Given the description of an element on the screen output the (x, y) to click on. 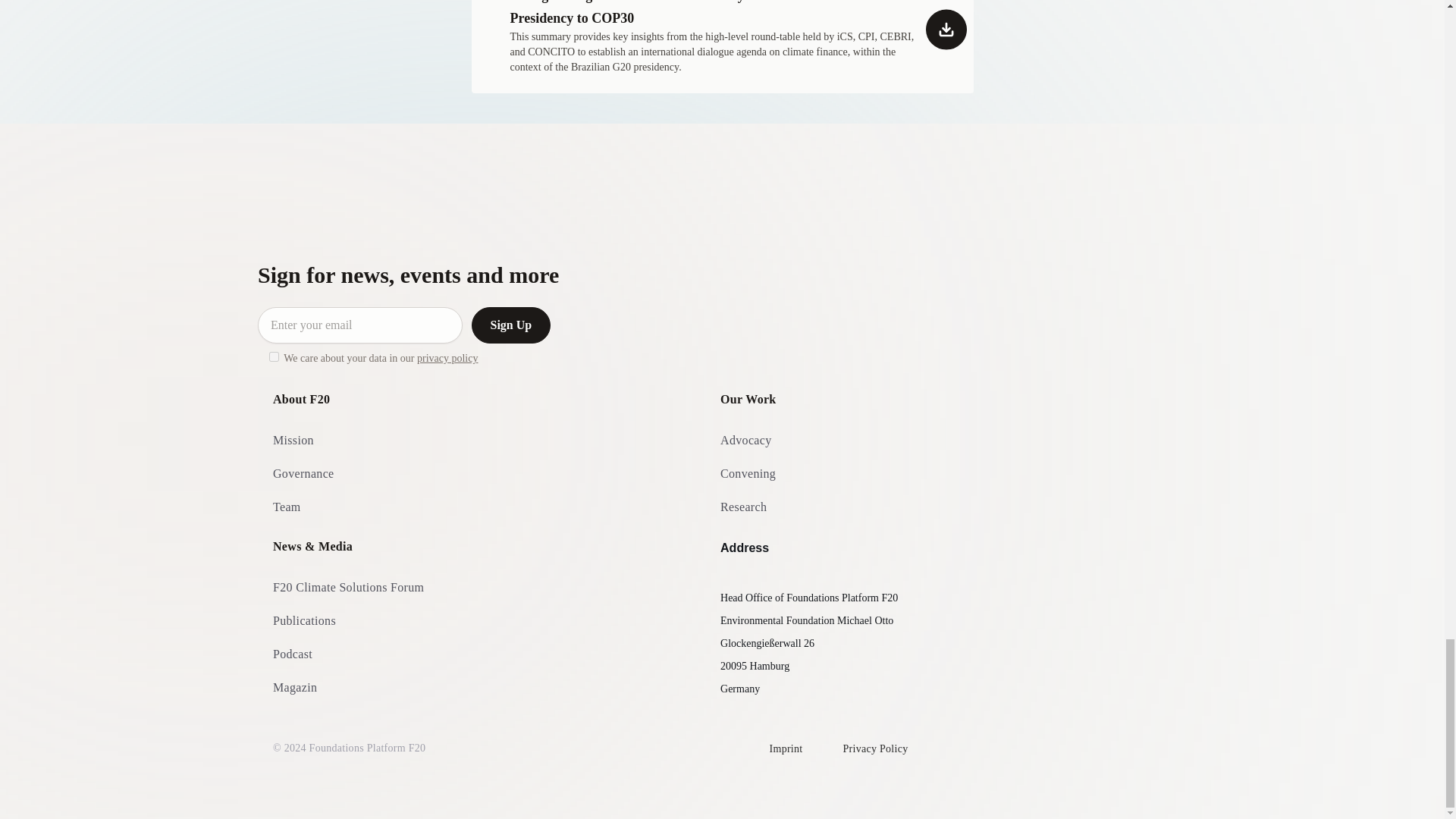
Governance (303, 481)
1 (274, 356)
Mission (293, 447)
Sign Up (511, 325)
privacy policy (446, 357)
Download (711, 37)
Sign Up (511, 325)
